Given the description of an element on the screen output the (x, y) to click on. 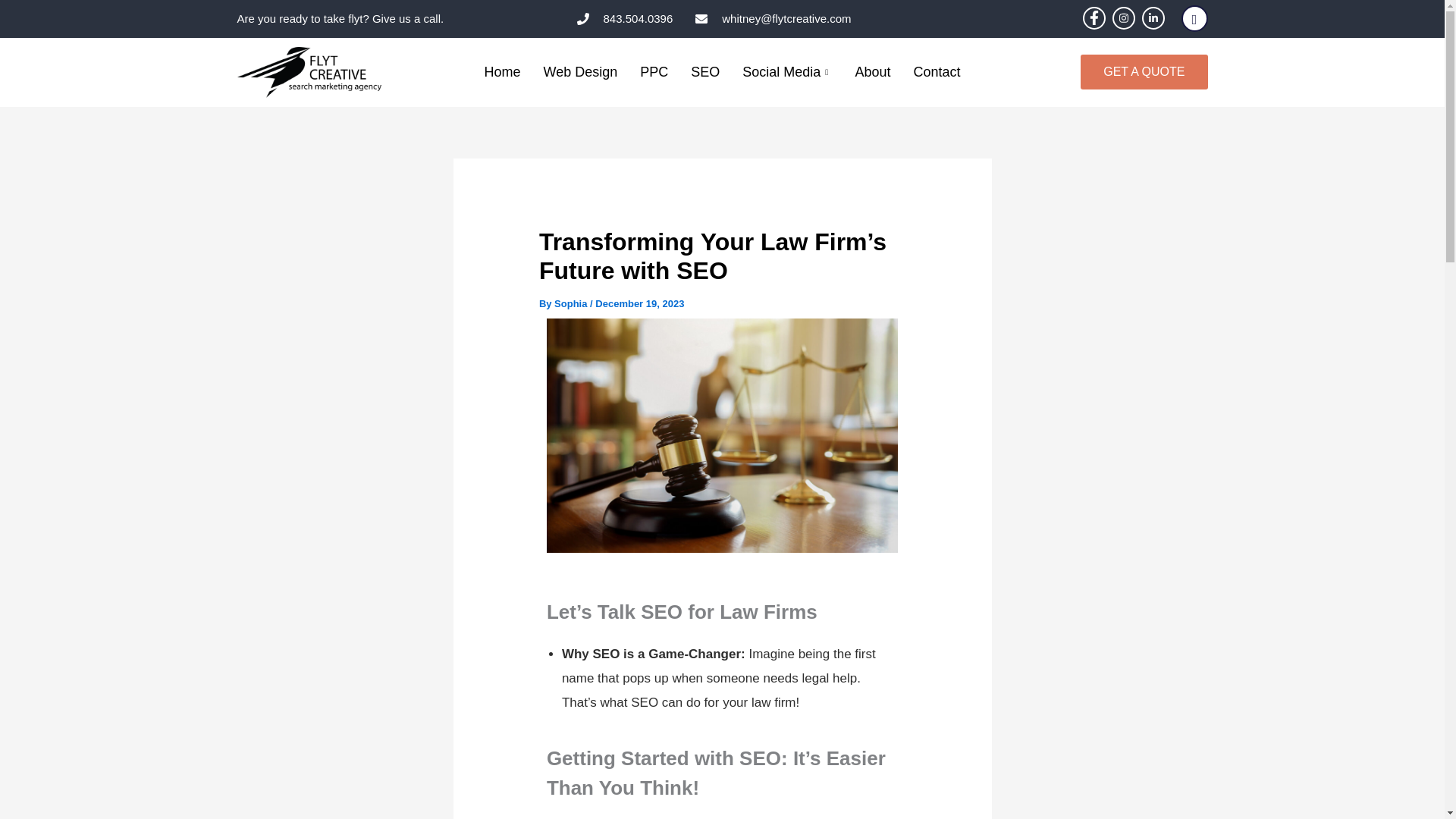
View all posts by Sophia (571, 303)
Social Media (786, 71)
843.504.0396 (624, 18)
Sophia (571, 303)
Home (502, 71)
Contact (936, 71)
About (872, 71)
Web Design (580, 71)
GET A QUOTE (1143, 71)
